Given the description of an element on the screen output the (x, y) to click on. 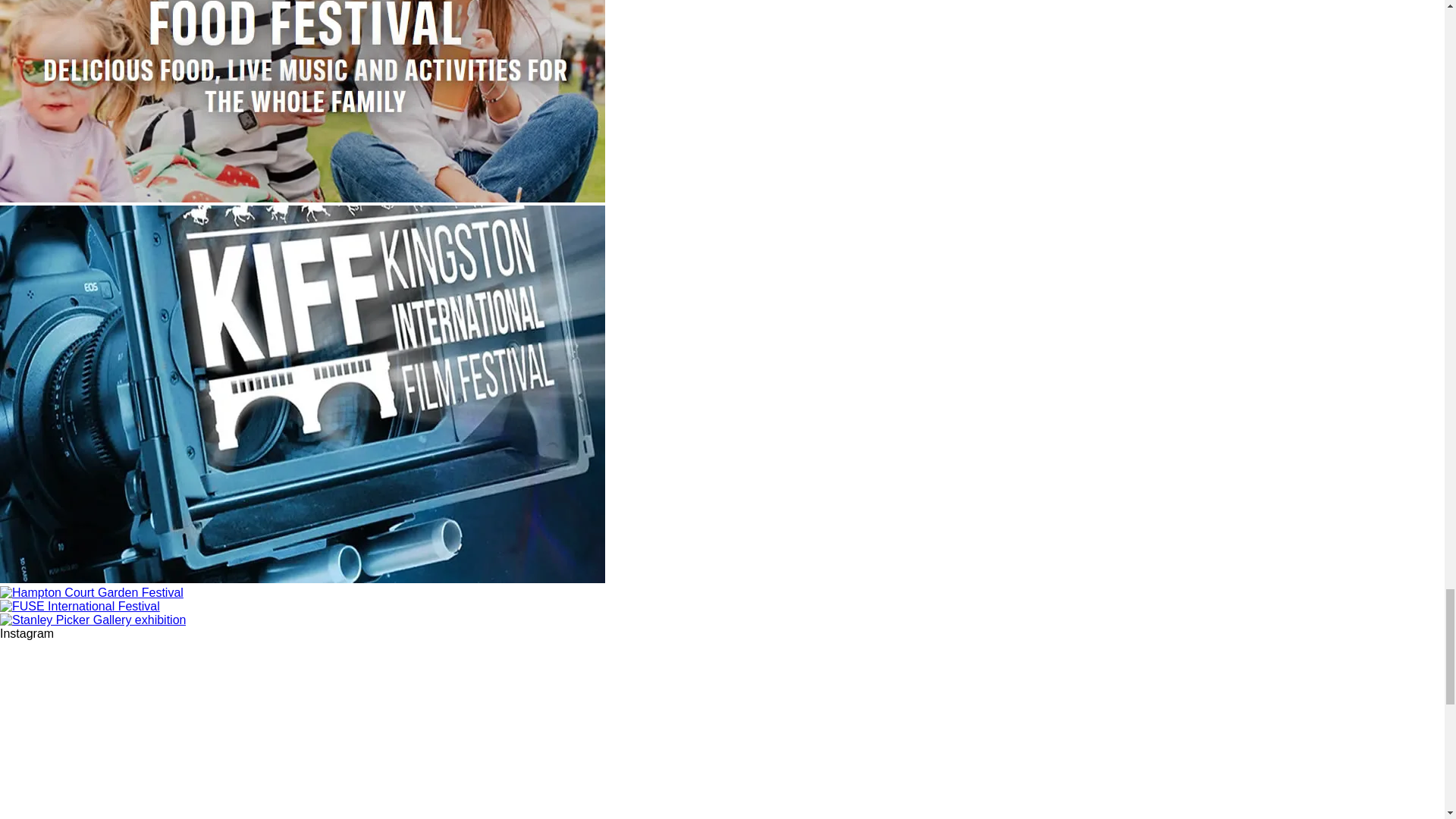
Thomas Pausz Haunted Ecologies at Stanley Picker Gallery (93, 619)
FUSE International Festival 28th June to 7th July 2024 (80, 605)
Kingston International Film Festival 2024 (302, 578)
Hampton Court Garden Festival 2024 (91, 592)
Hampton Court Palace Food Festival 2024 (302, 197)
